Given the description of an element on the screen output the (x, y) to click on. 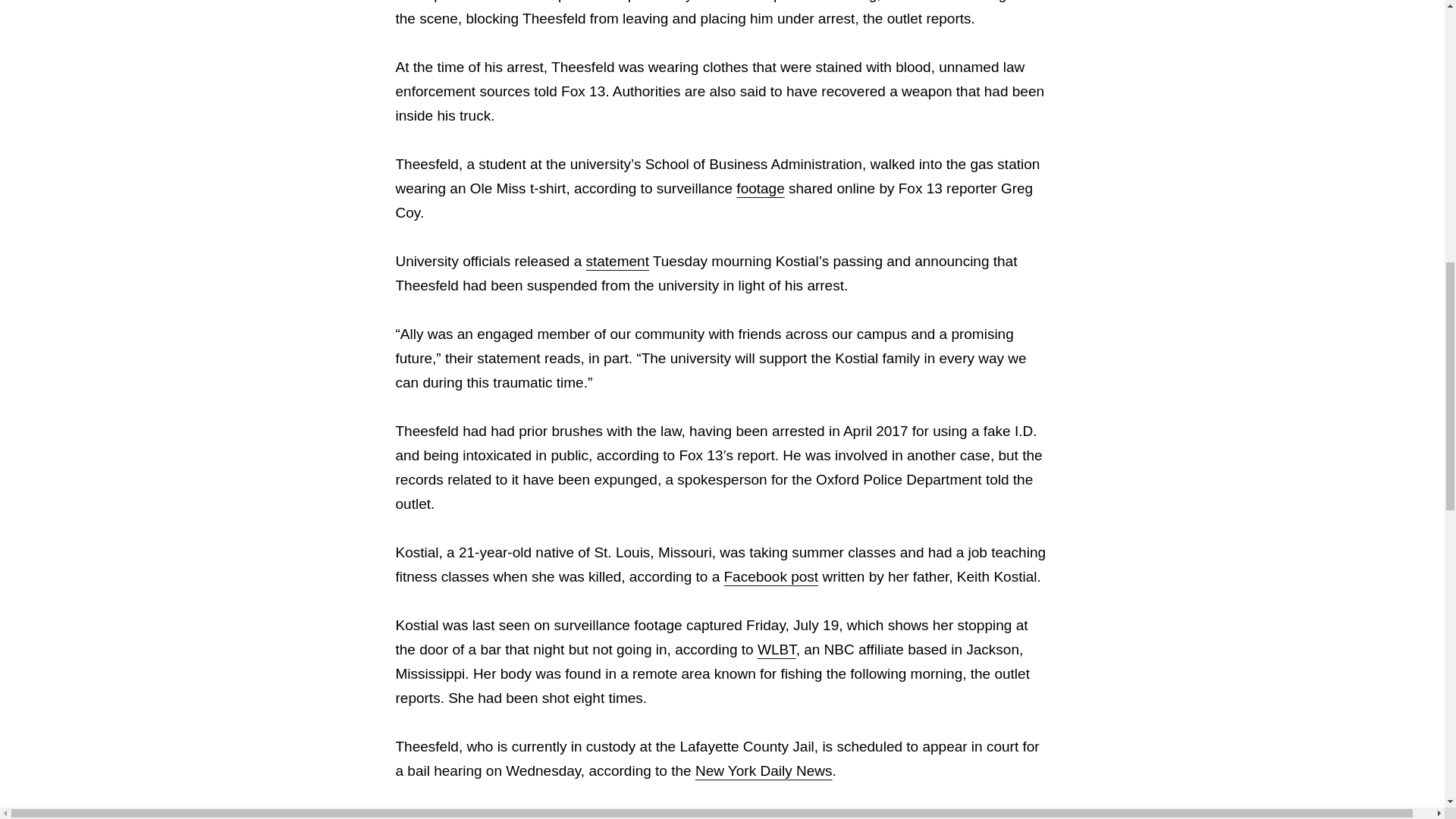
WLBT (776, 649)
WMC-TV (948, 815)
Facebook post (770, 576)
statement (616, 261)
New York Daily News (763, 770)
footage (760, 188)
